Given the description of an element on the screen output the (x, y) to click on. 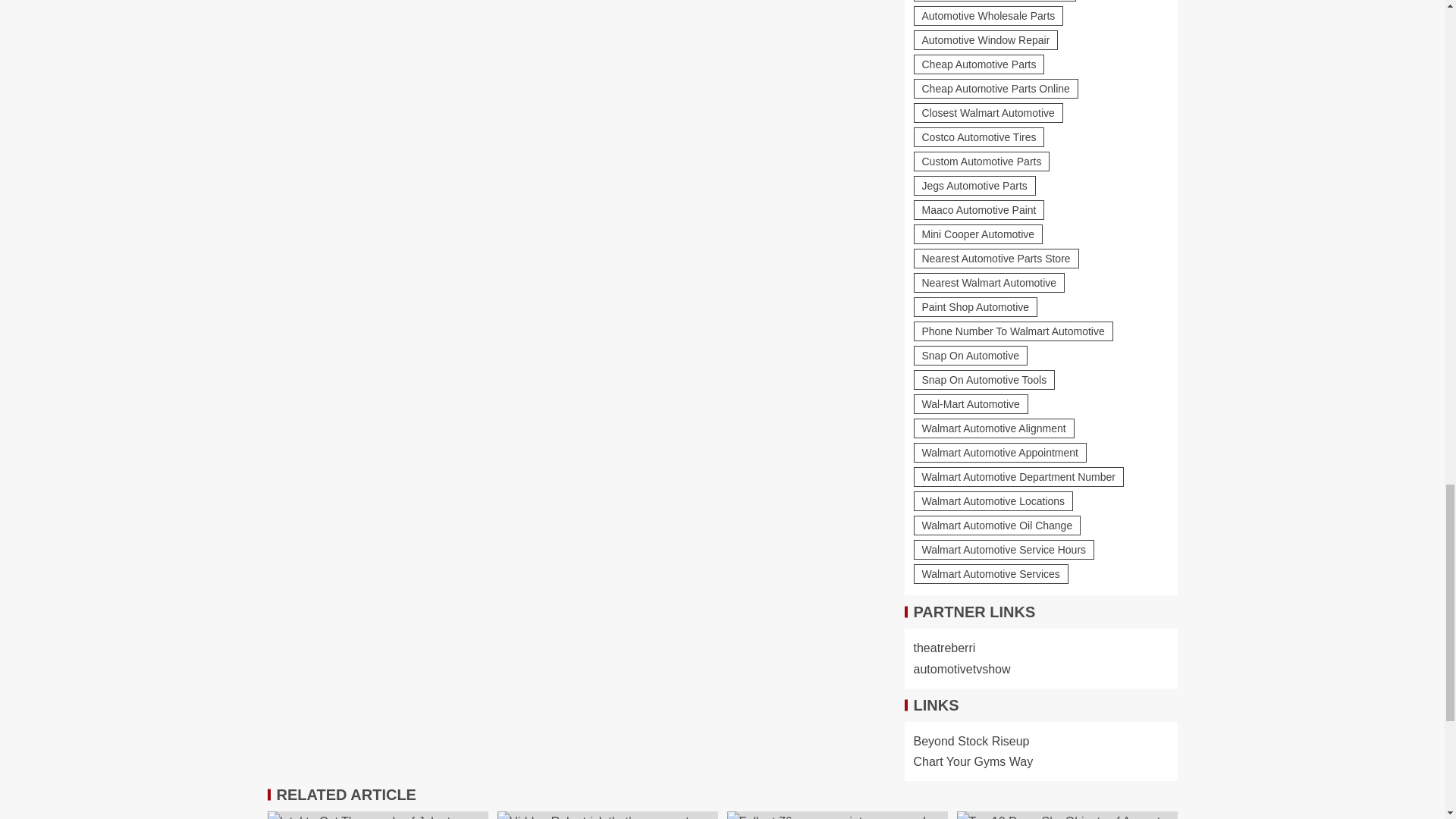
Intel to Cut Thousands of Jobs to Reduce Costs, Fund Rebound (376, 815)
